Given the description of an element on the screen output the (x, y) to click on. 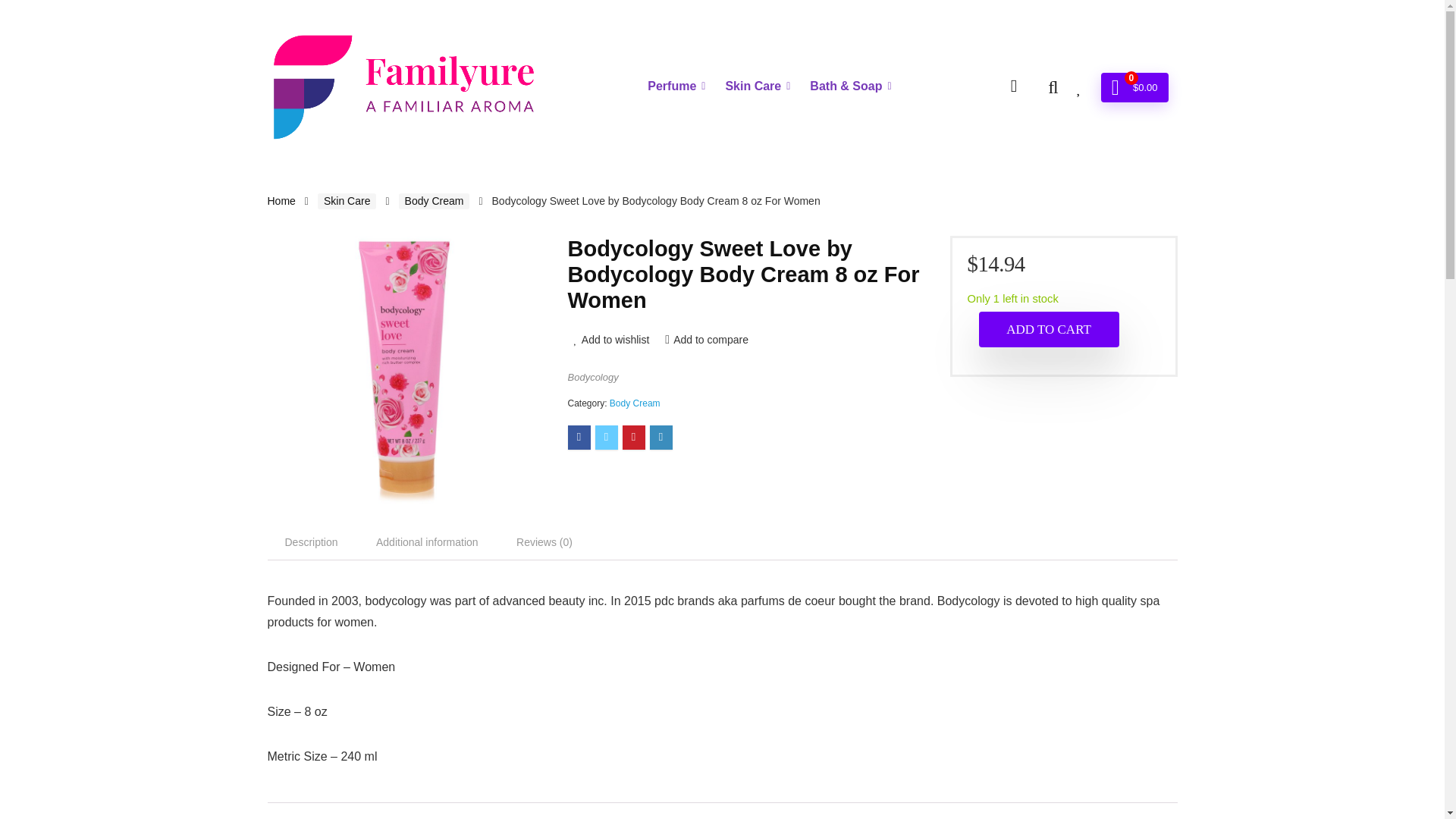
Skin Care (346, 201)
Description (310, 542)
Body Cream (635, 403)
Bodycology (592, 377)
Perfume (675, 86)
ADD TO CART (1048, 329)
Skin Care (756, 86)
Additional information (427, 542)
Home (280, 200)
Body Cream (434, 201)
